Given the description of an element on the screen output the (x, y) to click on. 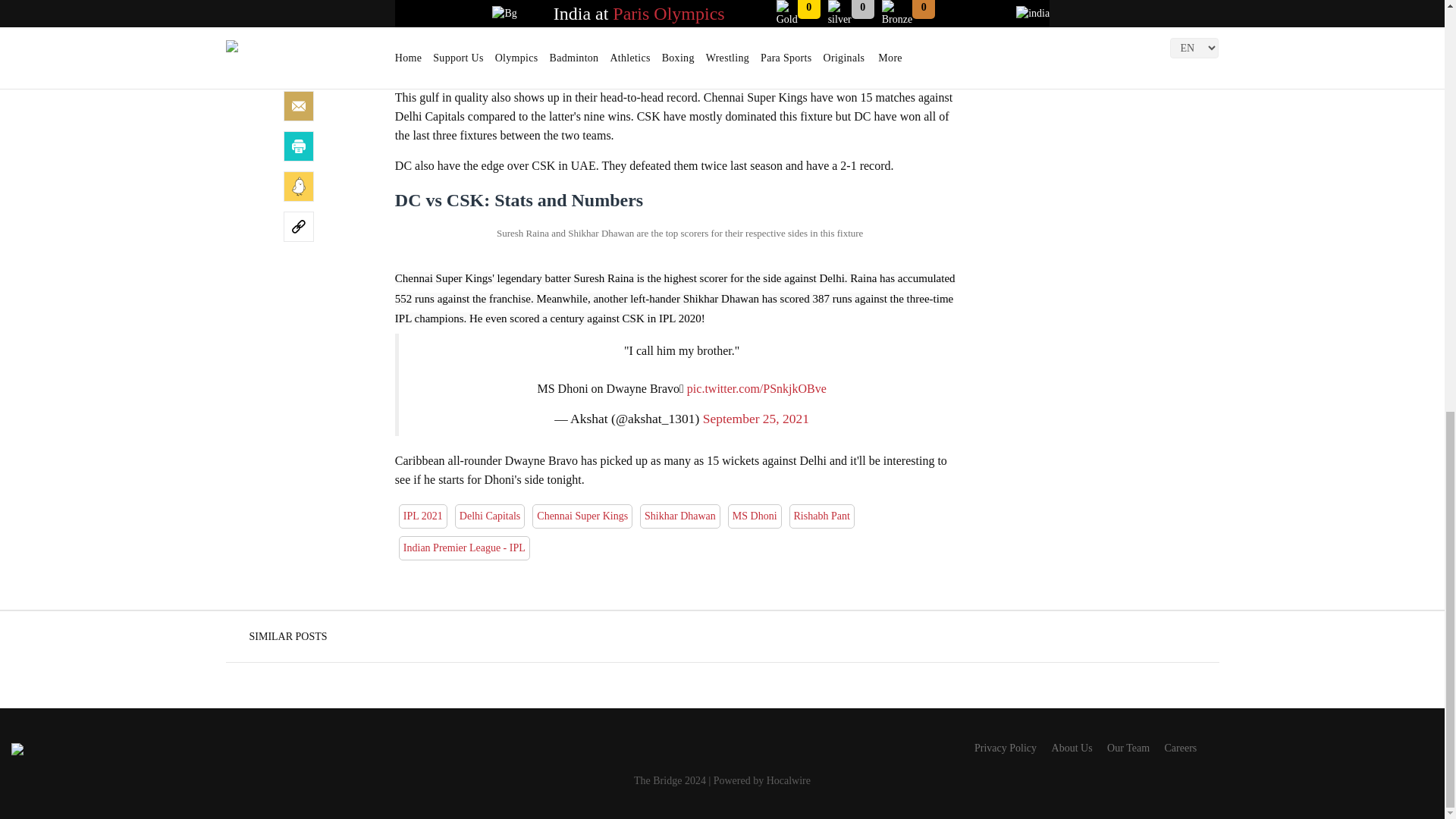
Share by Email (298, 105)
LinkedIn (298, 65)
